Given the description of an element on the screen output the (x, y) to click on. 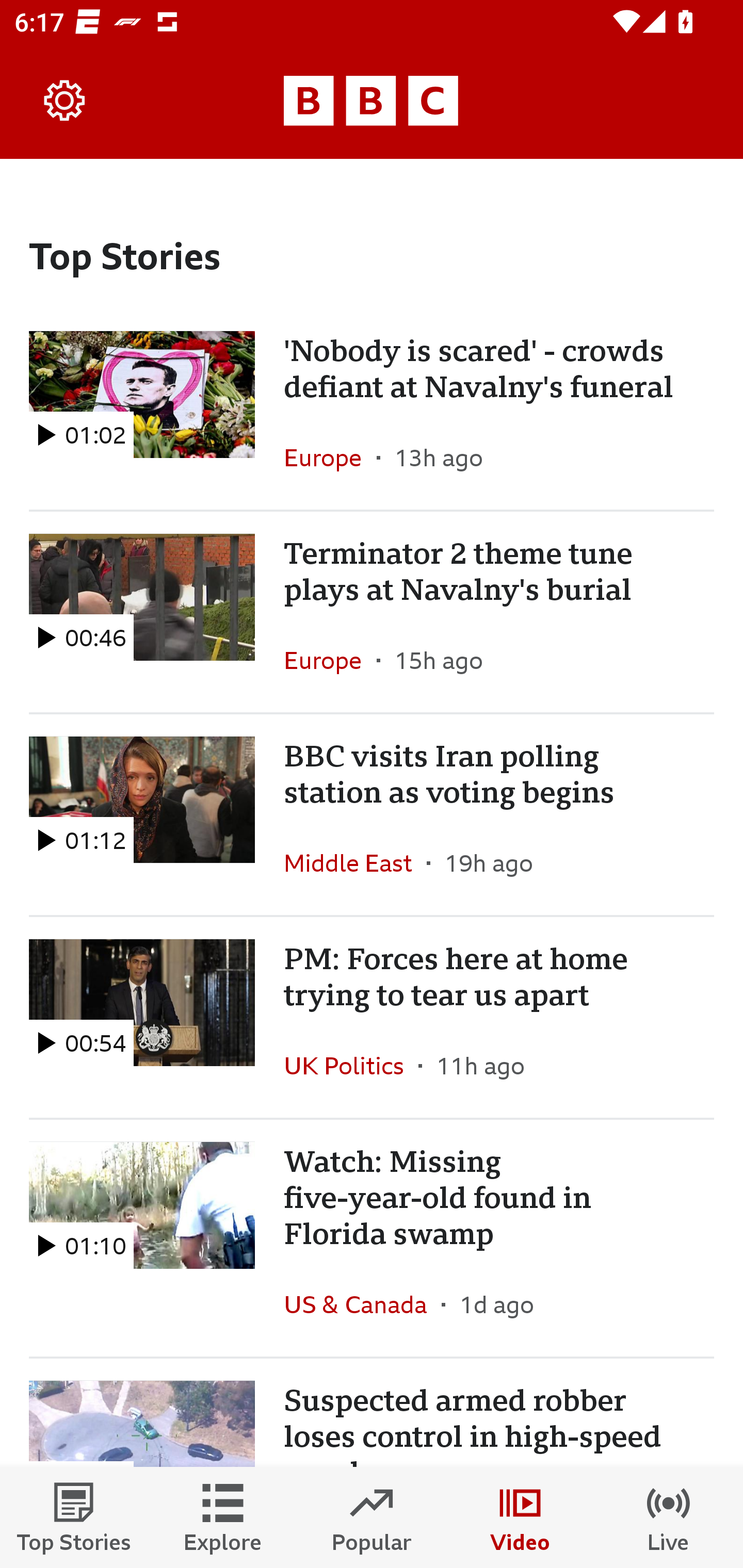
Settings (64, 100)
Europe In the section Europe (329, 457)
Europe In the section Europe (329, 659)
Middle East In the section Middle East (354, 862)
UK Politics In the section UK Politics (350, 1064)
US & Canada In the section US & Canada (362, 1304)
Top Stories (74, 1517)
Explore (222, 1517)
Popular (371, 1517)
Live (668, 1517)
